Given the description of an element on the screen output the (x, y) to click on. 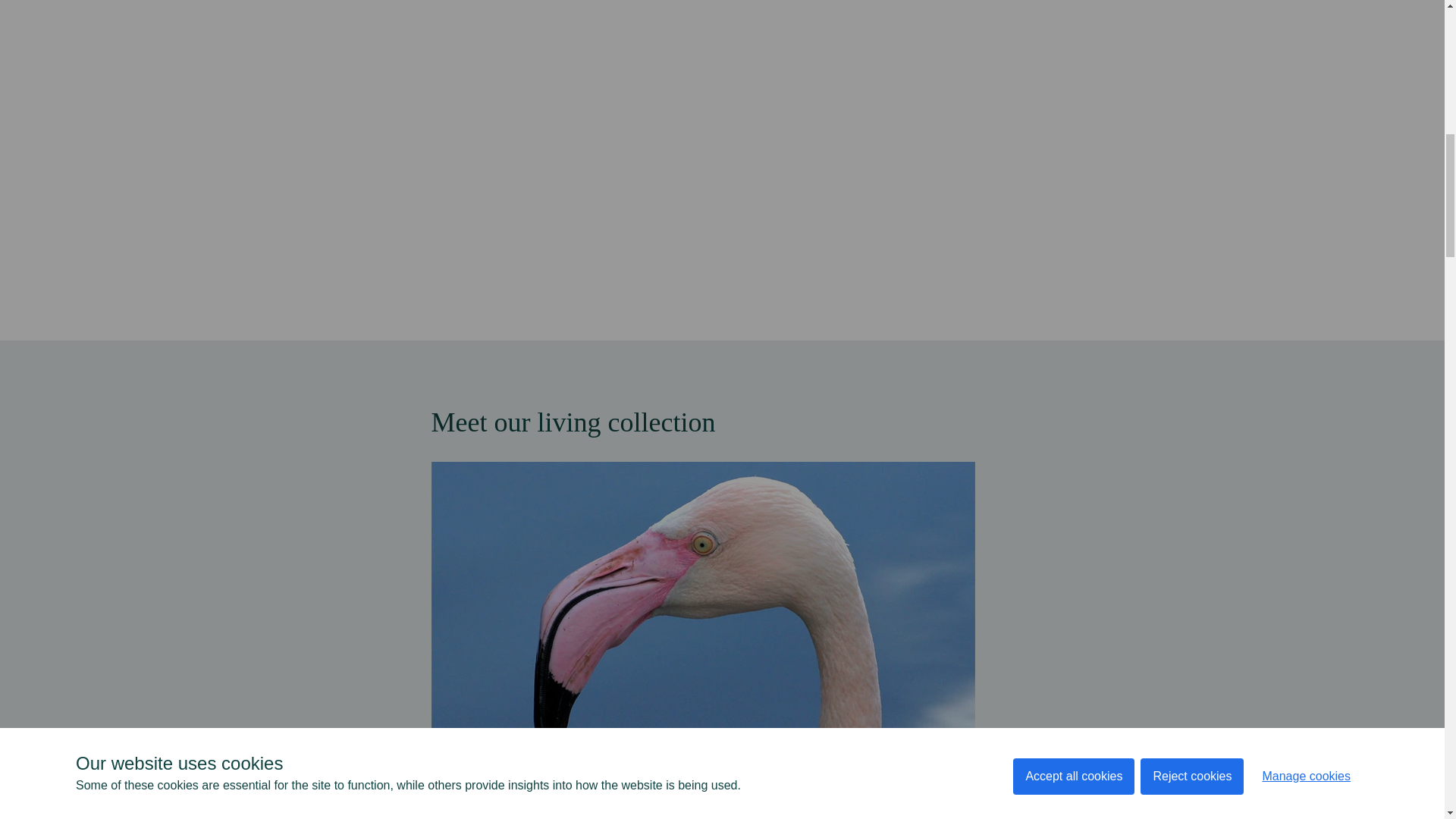
Reject cookies (1191, 14)
Accept all cookies (1073, 19)
Manage cookies (1305, 5)
